Given the description of an element on the screen output the (x, y) to click on. 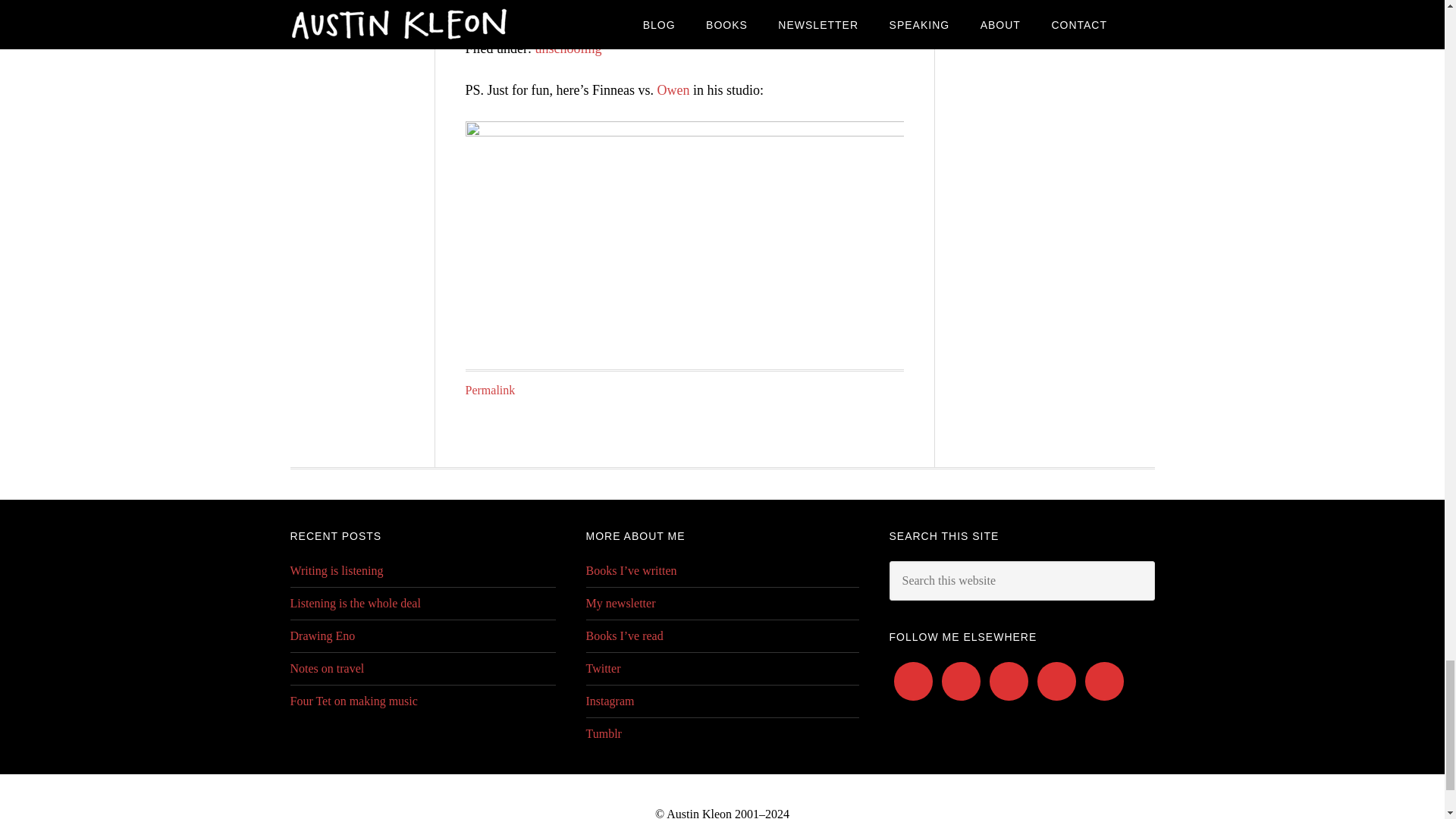
Owen (672, 89)
unschooling (568, 48)
Permalink (490, 390)
